Given the description of an element on the screen output the (x, y) to click on. 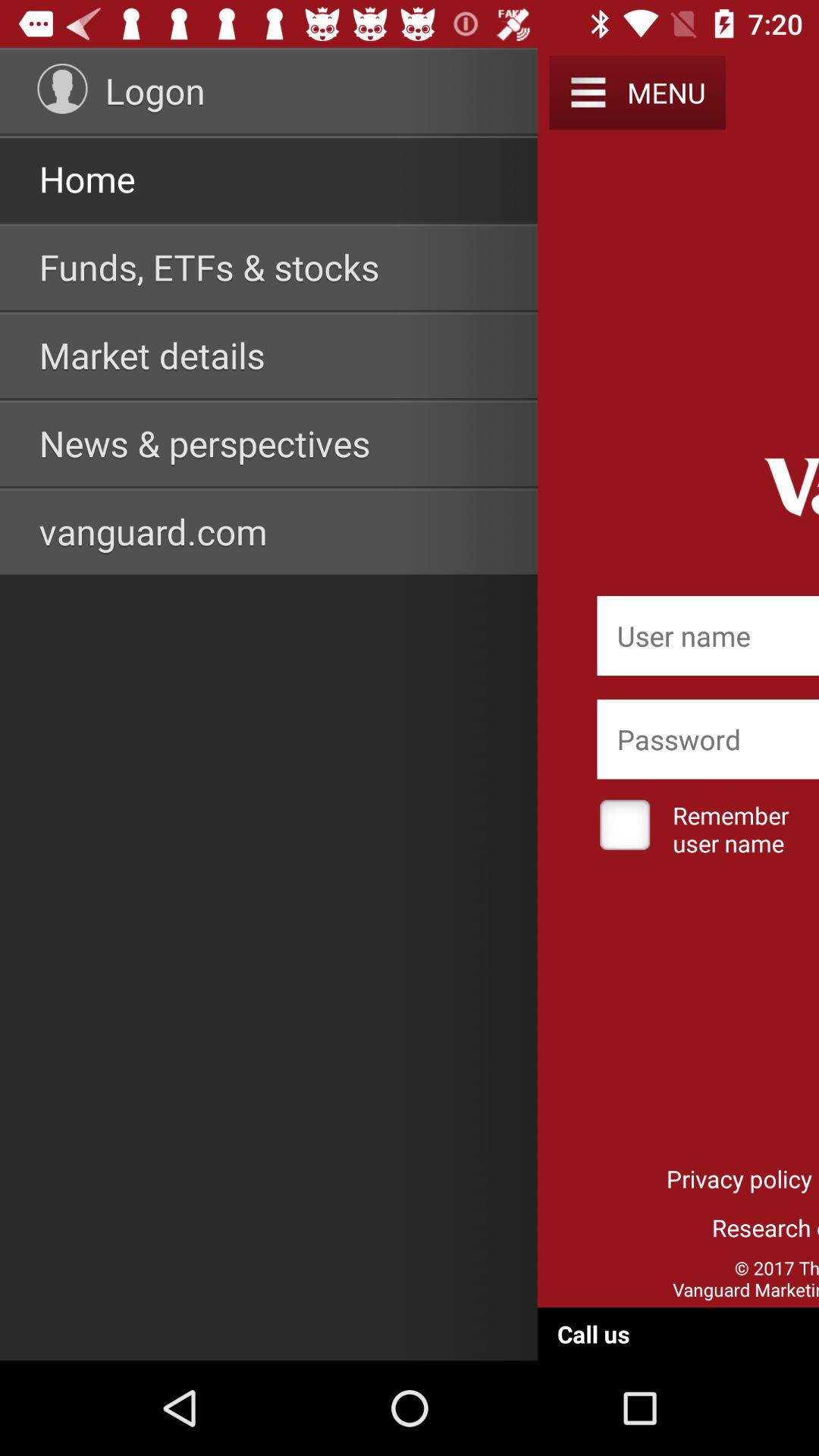
turn off item below the remember
user name (739, 1178)
